Given the description of an element on the screen output the (x, y) to click on. 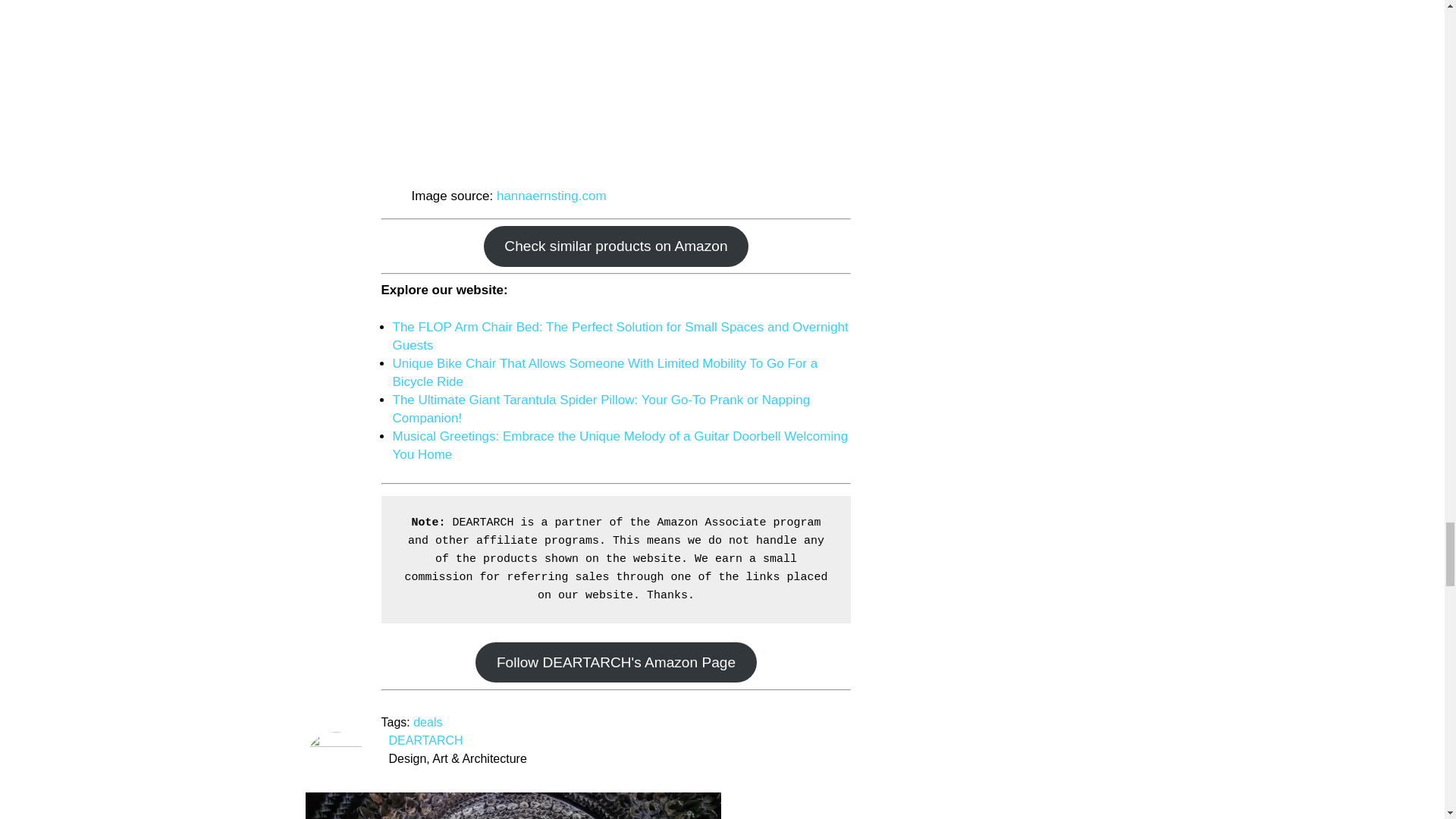
Posts by DEARTARCH (425, 739)
